Given the description of an element on the screen output the (x, y) to click on. 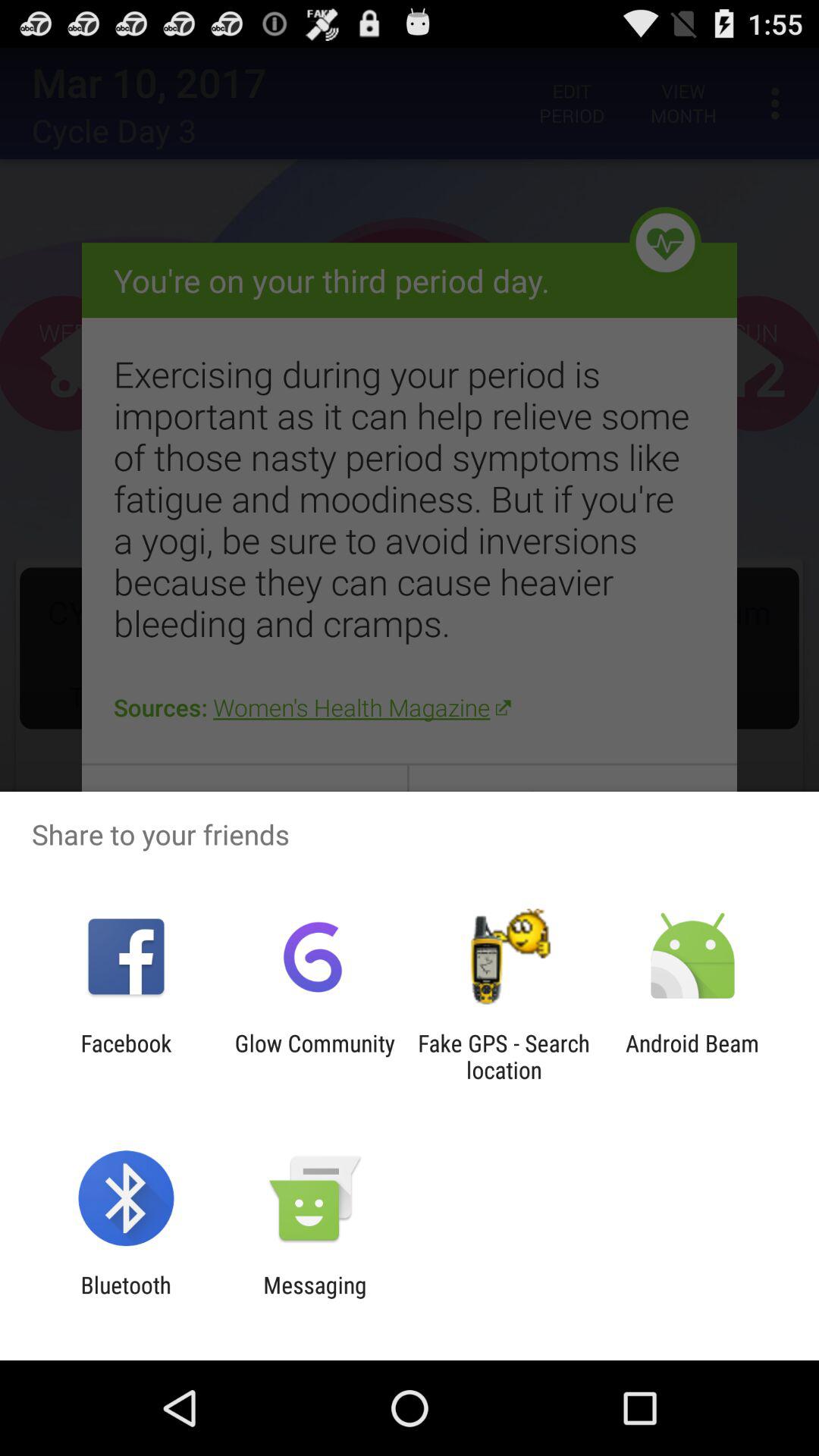
turn on icon next to messaging item (125, 1298)
